Given the description of an element on the screen output the (x, y) to click on. 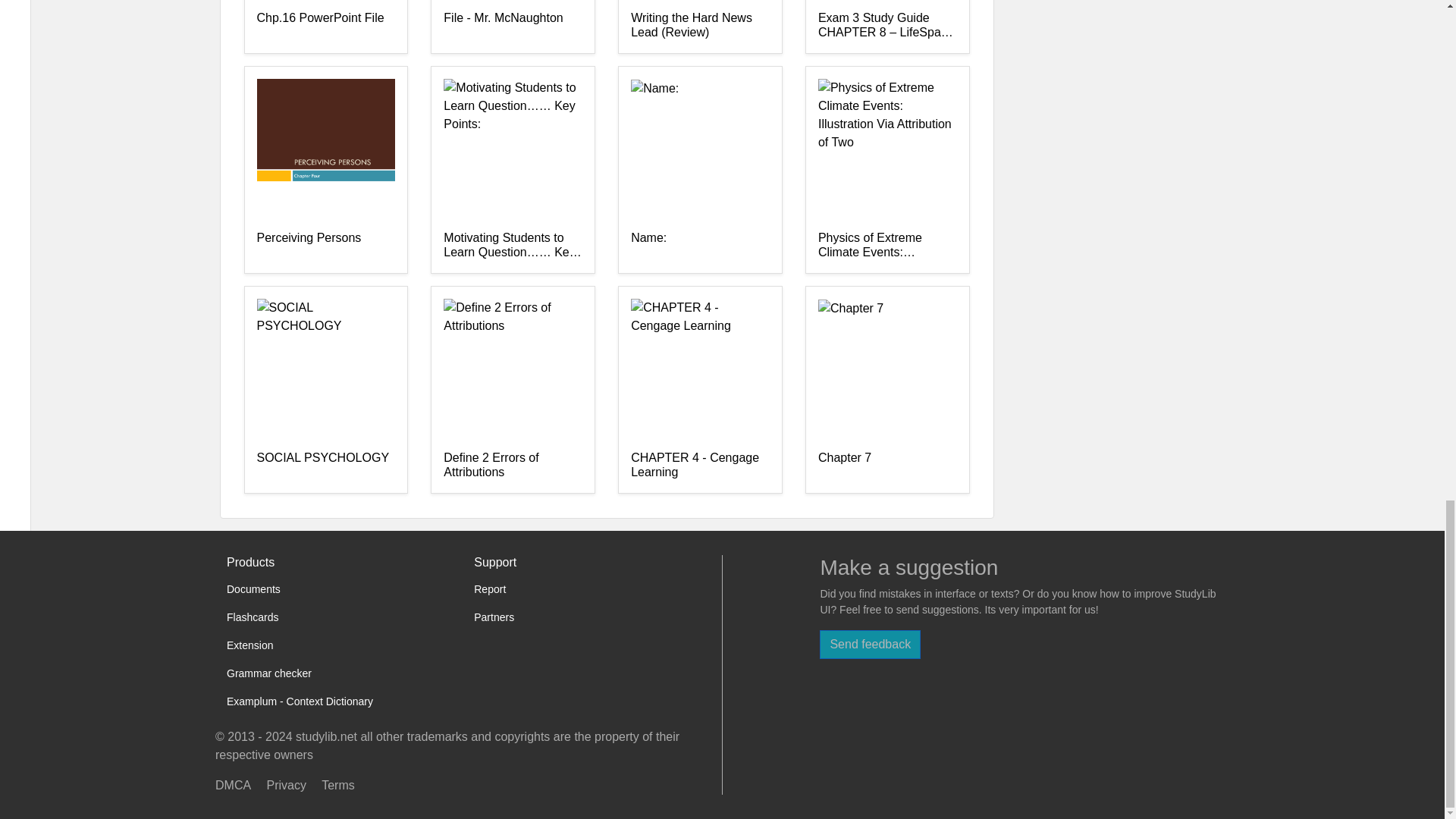
CHAPTER 4 - Cengage Learning (700, 465)
File - Mr. McNaughton (513, 25)
Chapter 7 (887, 465)
Name: (700, 245)
Perceiving Persons (325, 245)
File - Mr. McNaughton (513, 25)
SOCIAL PSYCHOLOGY (325, 465)
Chp.16 PowerPoint File (325, 25)
Define 2 Errors of Attributions (513, 465)
Chp.16 PowerPoint File (325, 25)
